Given the description of an element on the screen output the (x, y) to click on. 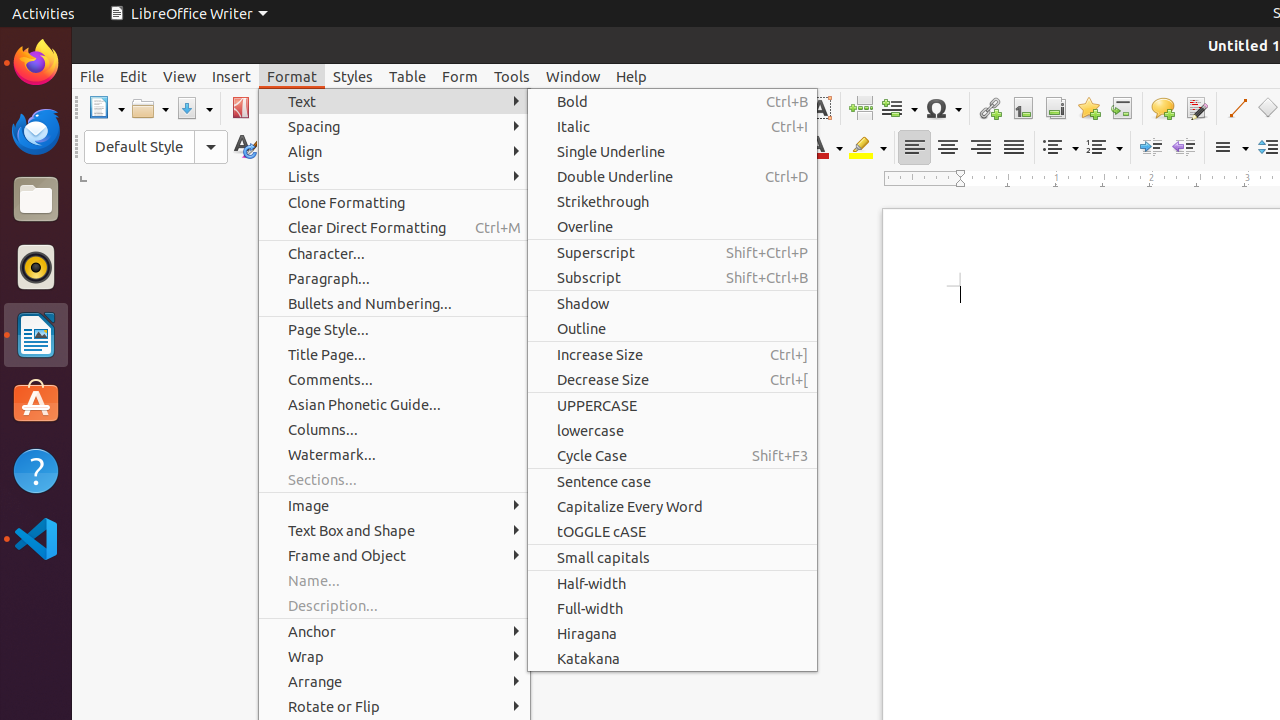
Tools Element type: menu (512, 76)
Text Box and Shape Element type: menu (394, 530)
Help Element type: push-button (36, 470)
Paragraph Style Element type: combo-box (156, 147)
Endnote Element type: push-button (1055, 108)
